Given the description of an element on the screen output the (x, y) to click on. 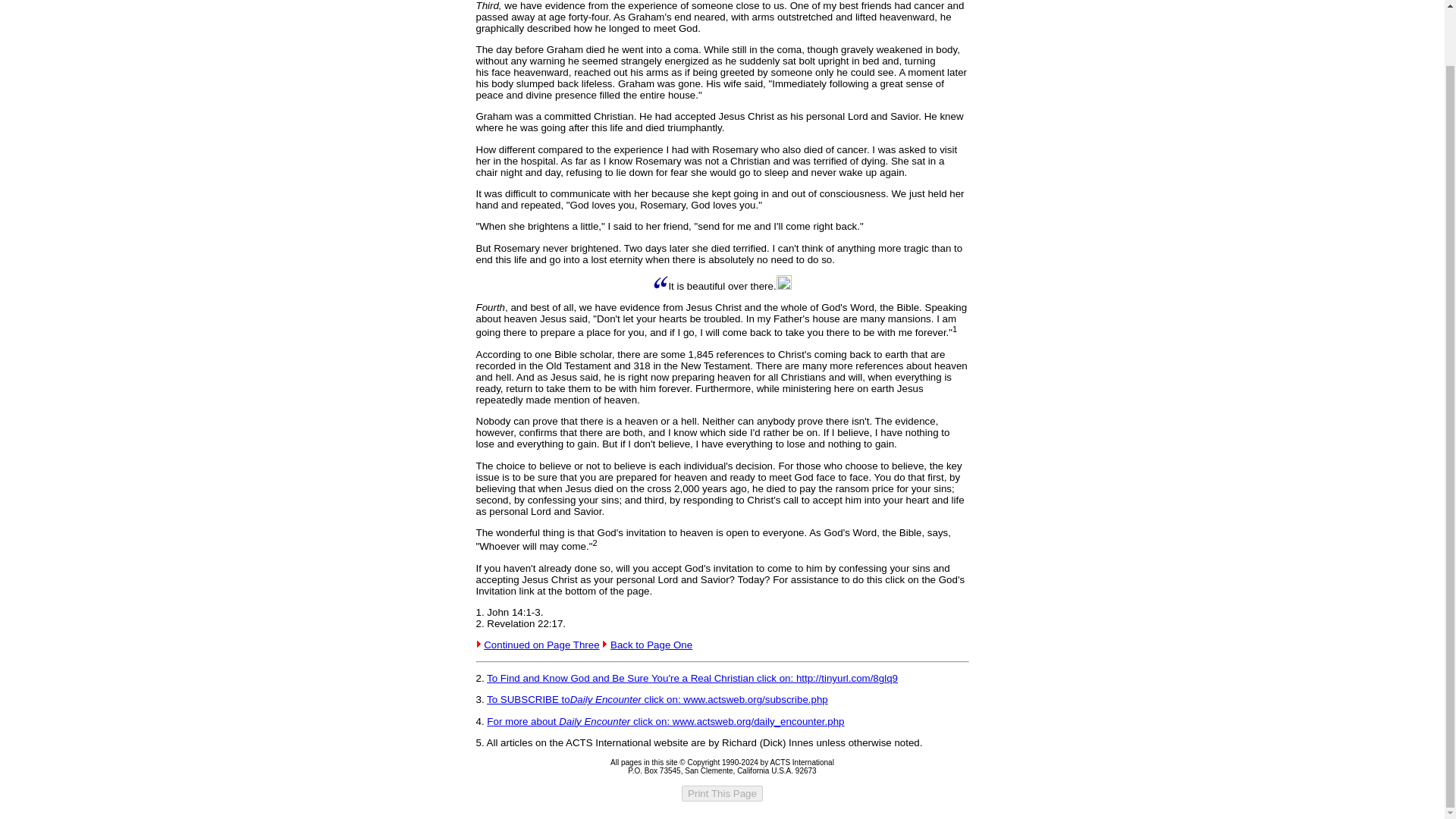
Back to Page One (651, 644)
Continued on Page Three (540, 644)
Print This Page (721, 793)
